Given the description of an element on the screen output the (x, y) to click on. 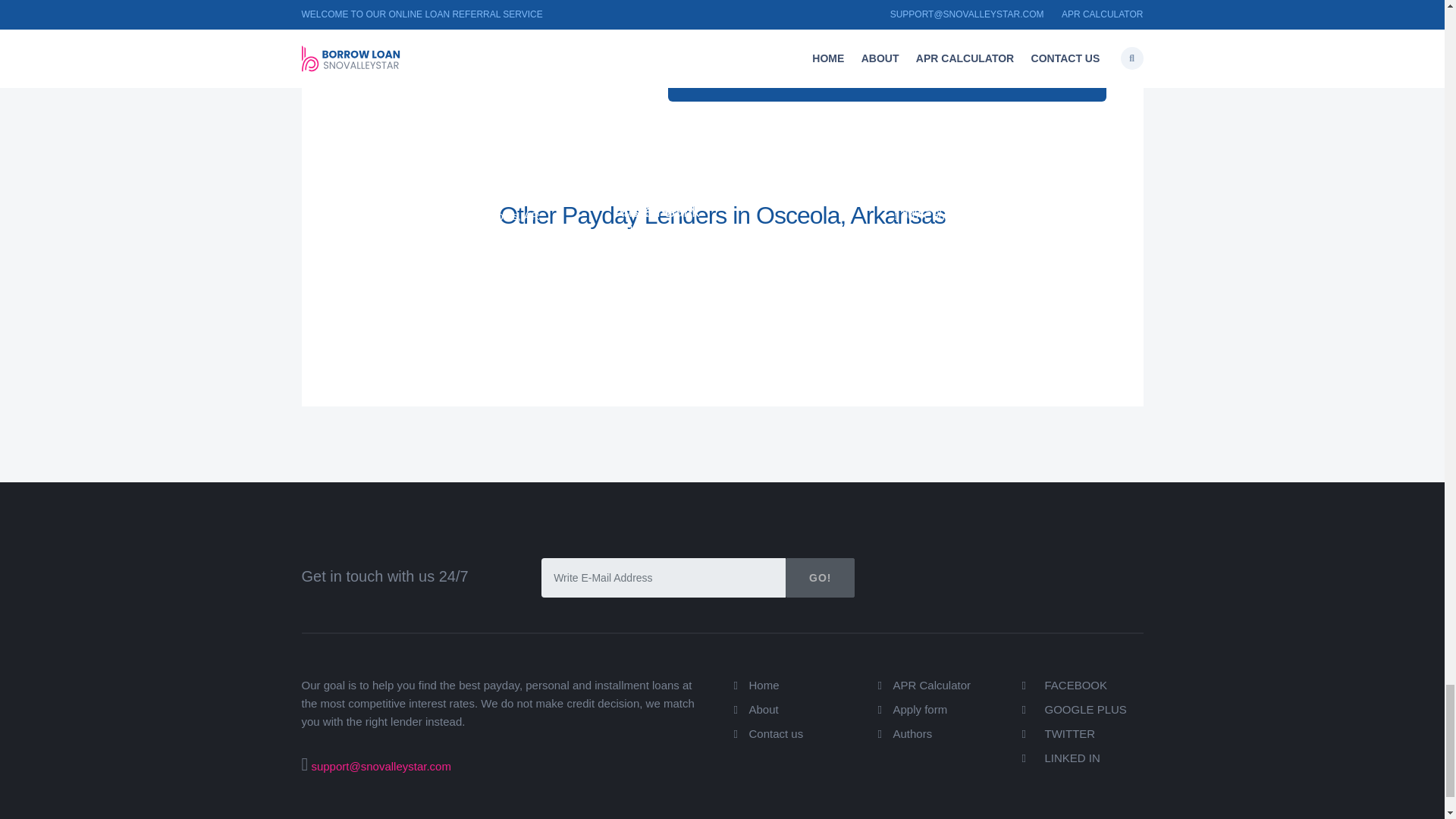
Anstaff Bank (655, 211)
First Security Bank (397, 211)
Hope Credit Union (395, 188)
Walmart Money Center (971, 184)
Arvest Bank (653, 207)
Instant Money Pawn of Arkansas (410, 155)
First Security Bank (957, 188)
Arvest Bank (653, 166)
